Given the description of an element on the screen output the (x, y) to click on. 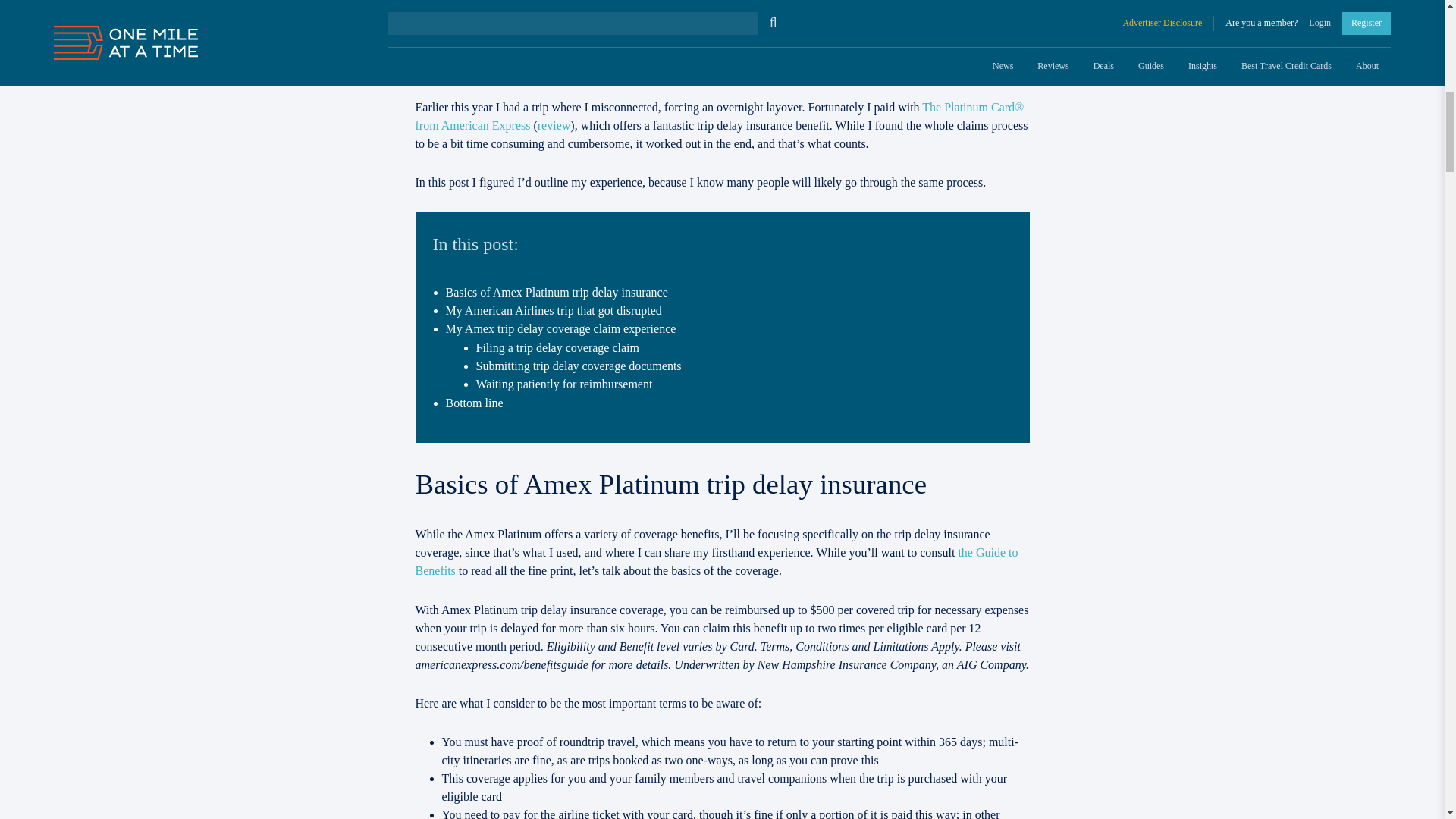
Waiting patiently for reimbursement (564, 383)
review (553, 124)
Filing a trip delay coverage claim (557, 347)
Basics of Amex Platinum trip delay insurance (556, 291)
My Amex trip delay coverage claim experience (561, 328)
Bottom line (474, 402)
Submitting trip delay coverage documents (578, 365)
My American Airlines trip that got disrupted (553, 309)
